Given the description of an element on the screen output the (x, y) to click on. 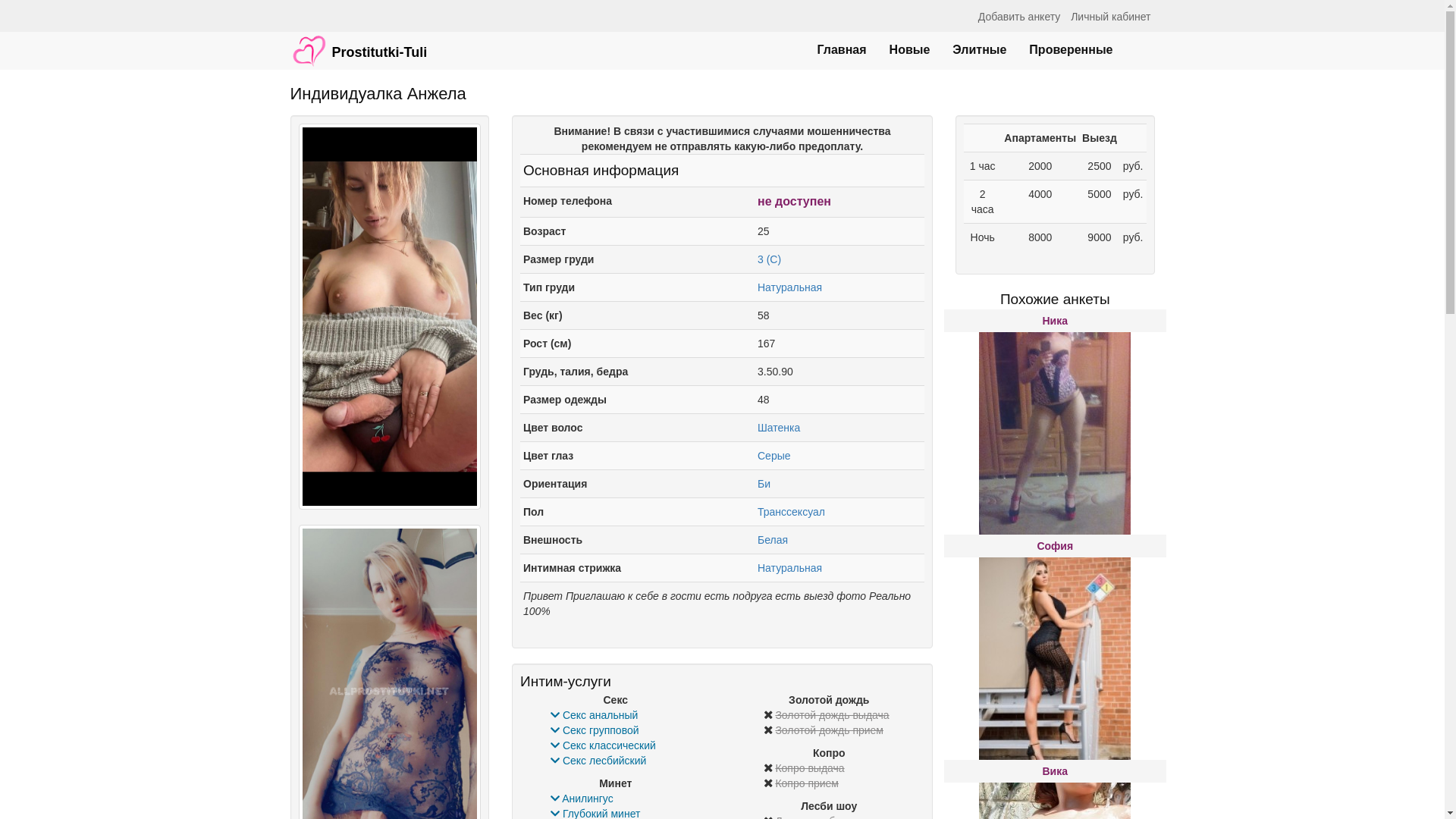
Prostitutki-Tuli Element type: text (359, 43)
3 (C) Element type: text (769, 259)
